Given the description of an element on the screen output the (x, y) to click on. 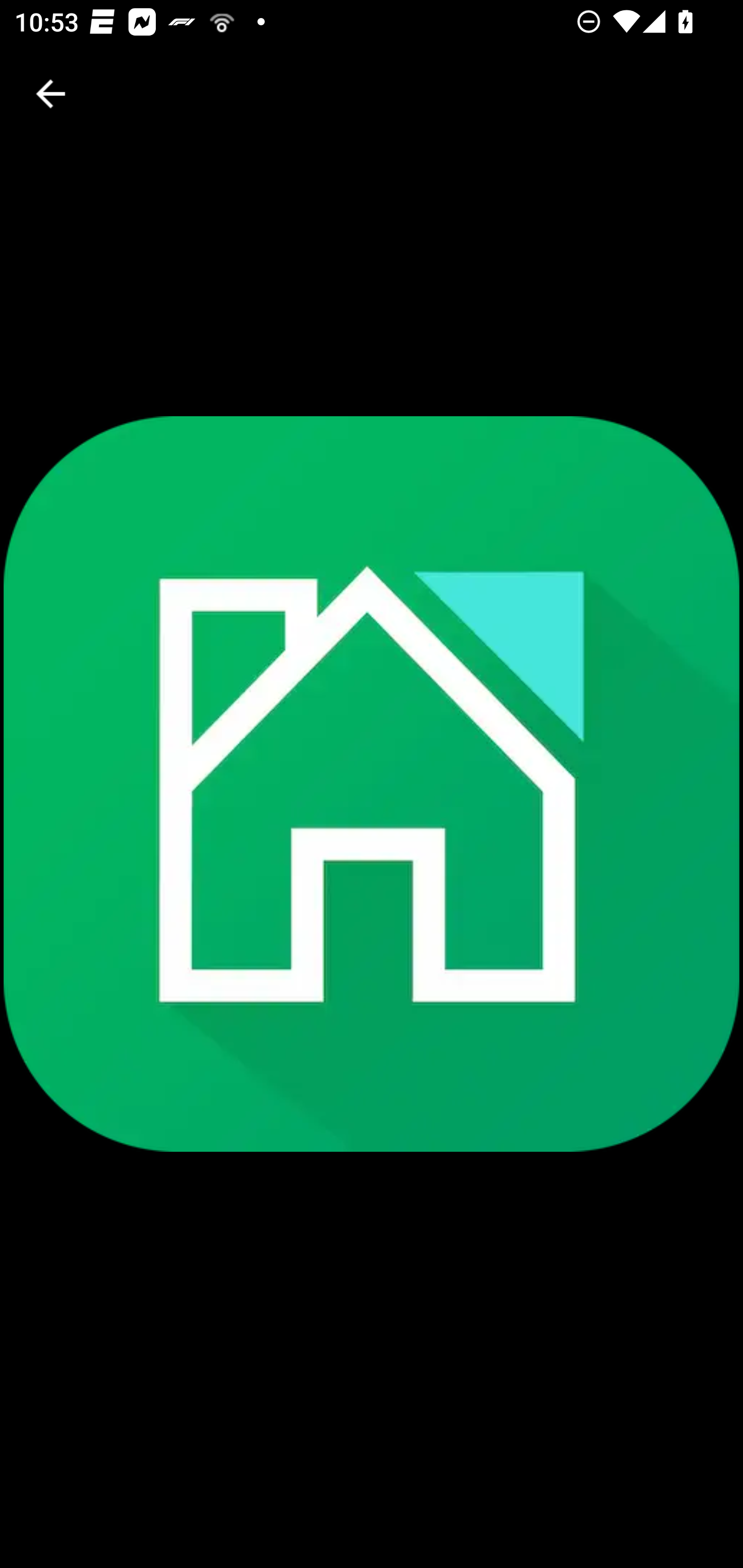
Back (50, 93)
